Given the description of an element on the screen output the (x, y) to click on. 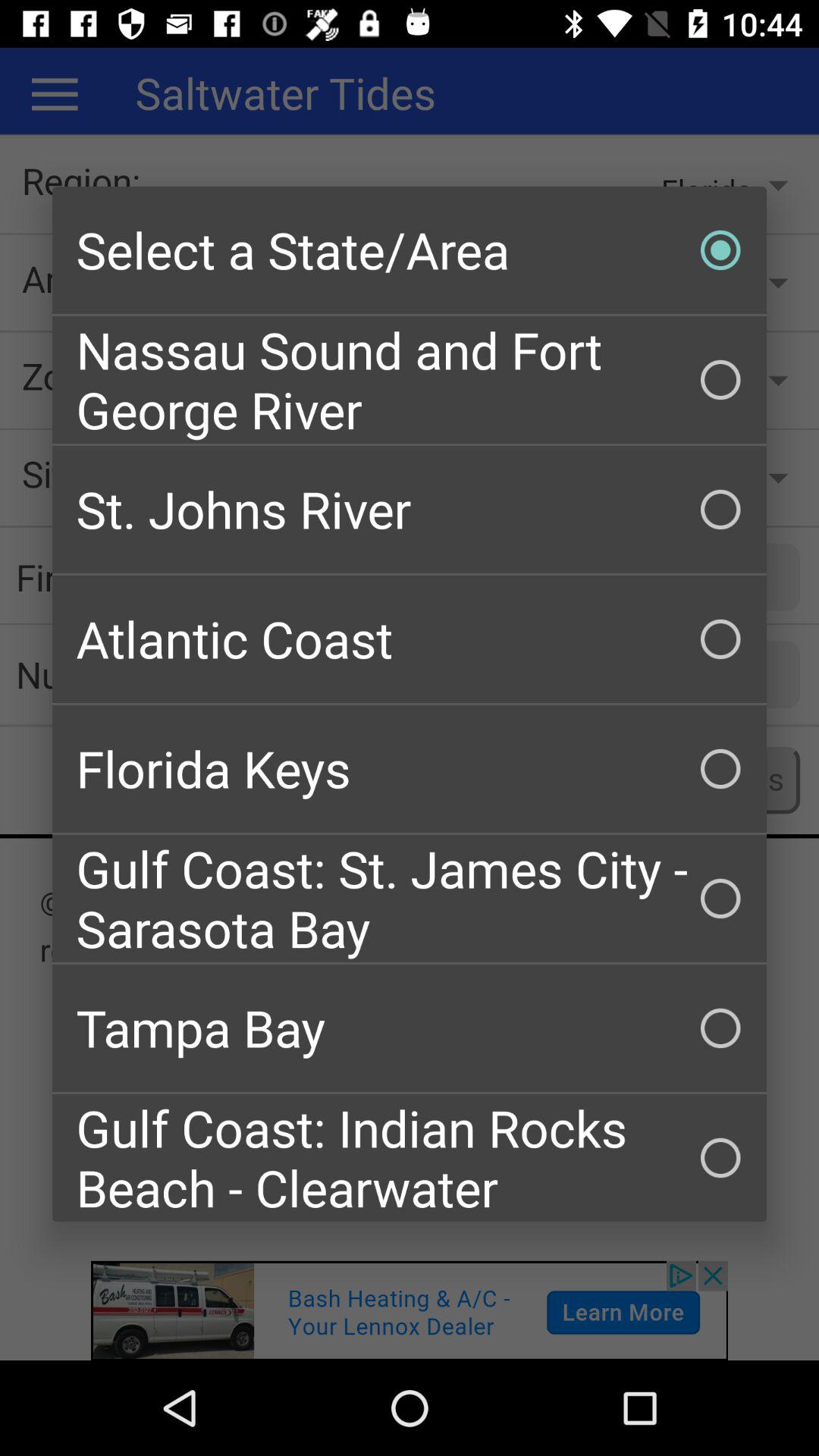
turn on the florida keys (409, 768)
